Given the description of an element on the screen output the (x, y) to click on. 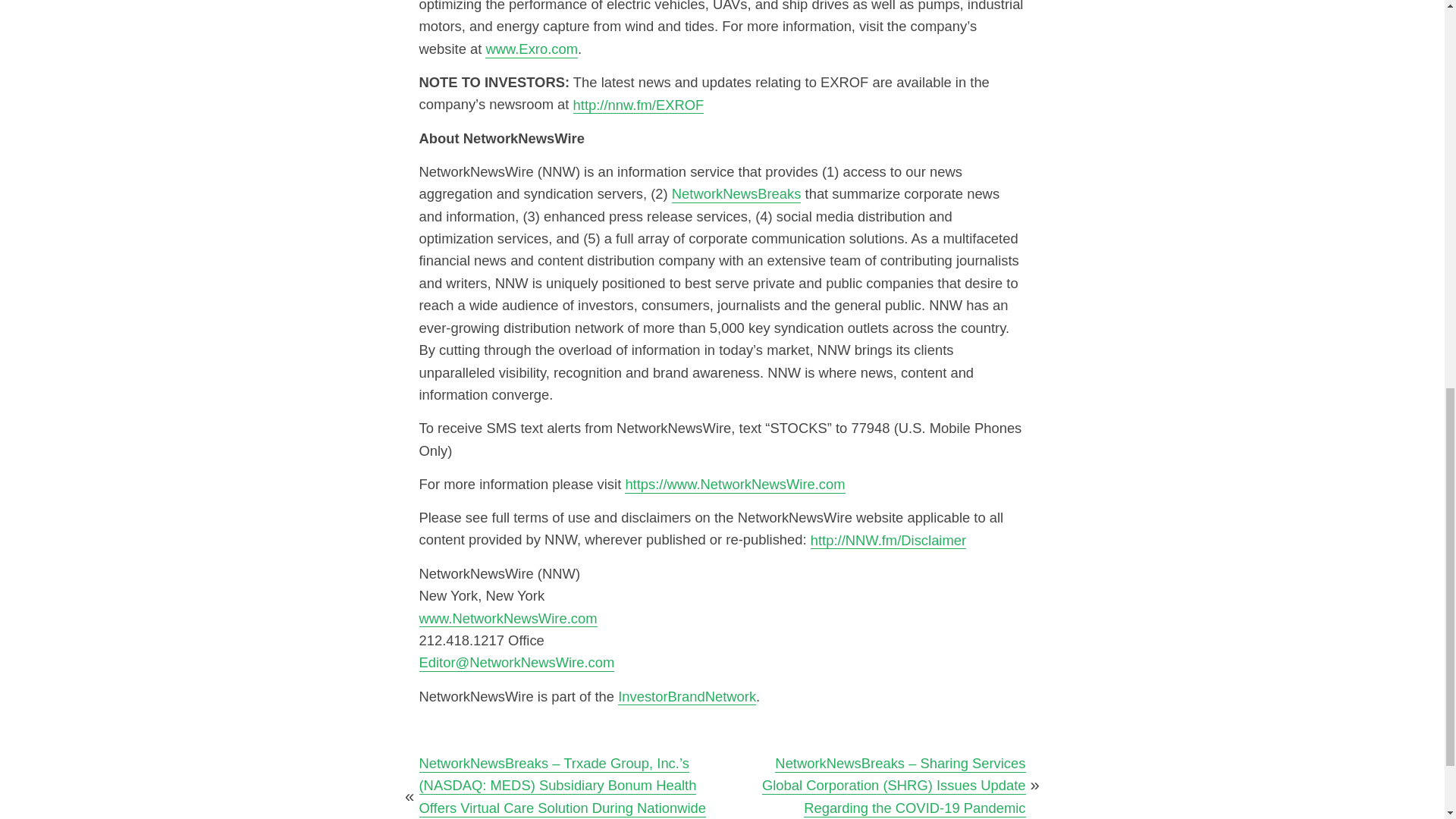
www.Exro.com (531, 48)
www.NetworkNewsWire.com (507, 618)
InvestorBrandNetwork (686, 696)
NetworkNewsBreaks (736, 193)
